Given the description of an element on the screen output the (x, y) to click on. 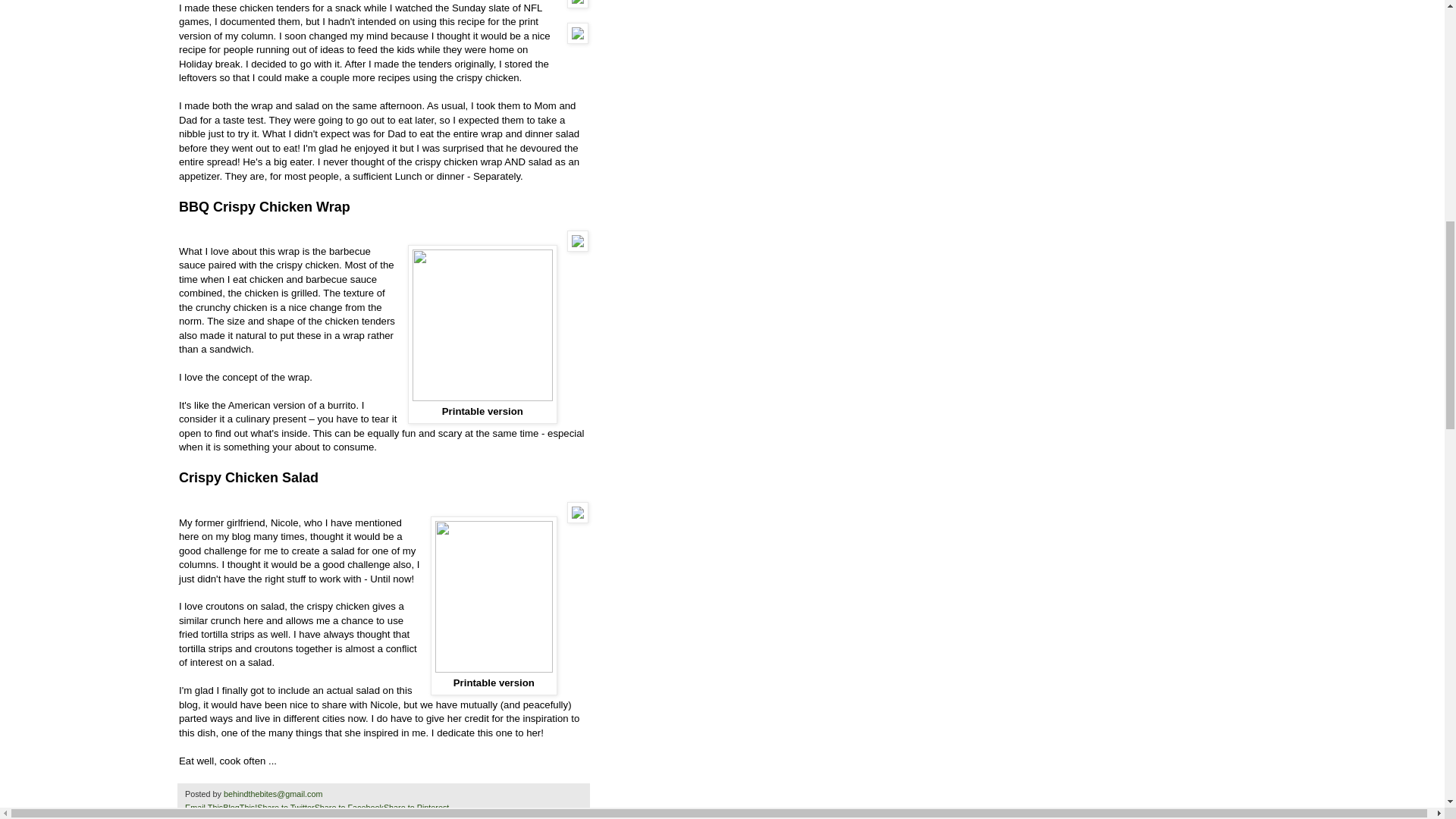
Share to Facebook (349, 807)
Email Post (330, 793)
fried food (262, 817)
Share to Facebook (349, 807)
salad (293, 817)
BlogThis! (239, 807)
author profile (274, 793)
Email This (203, 807)
Share to Pinterest (416, 807)
BlogThis! (239, 807)
Share to Pinterest (416, 807)
Share to Twitter (285, 807)
wrap (317, 817)
chicken (227, 817)
Share to Twitter (285, 807)
